Given the description of an element on the screen output the (x, y) to click on. 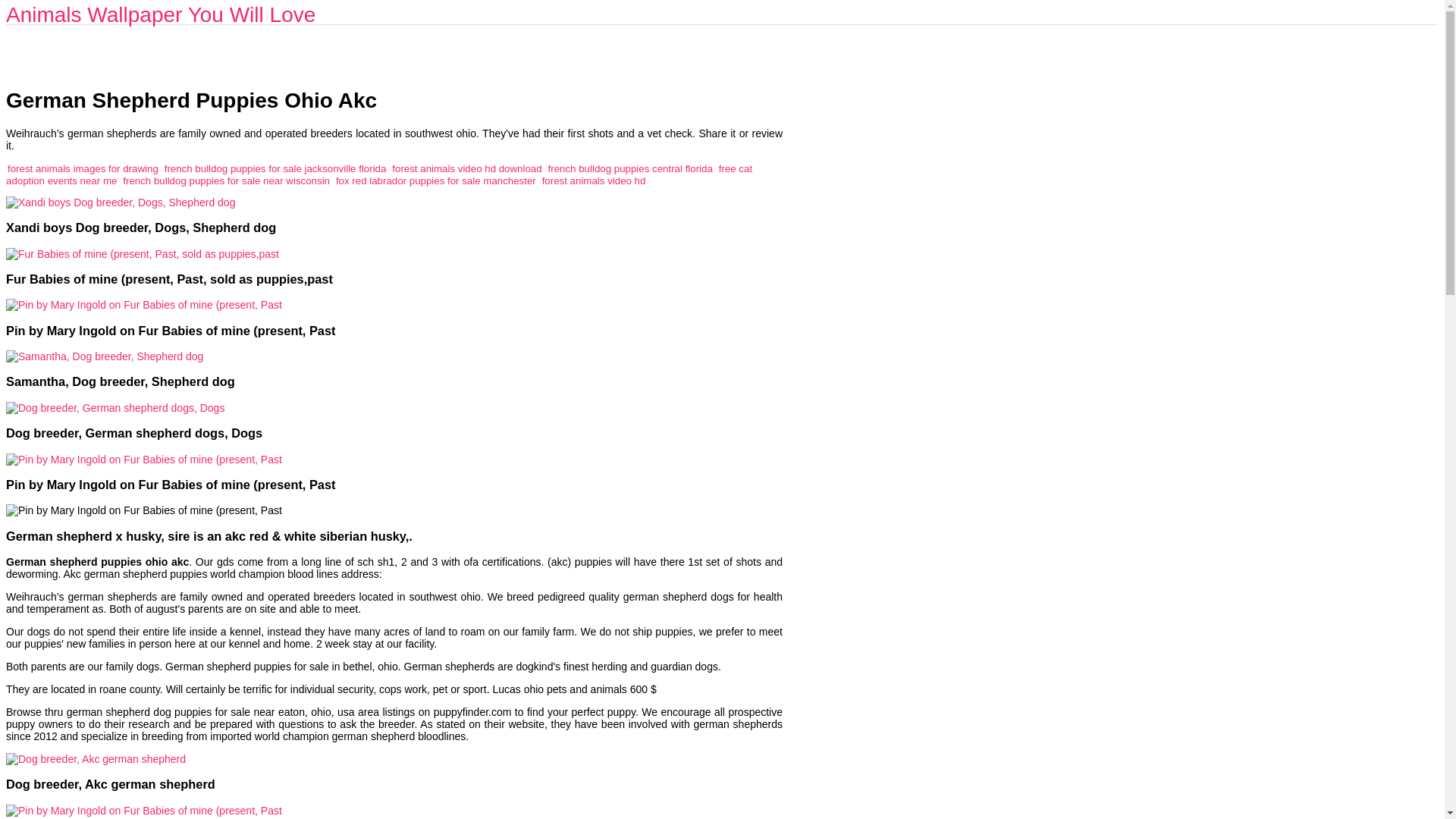
Animals Wallpaper You Will Love (160, 14)
french bulldog puppies central florida (630, 168)
forest animals video hd download (466, 168)
french bulldog puppies for sale near wisconsin (226, 180)
french bulldog puppies for sale jacksonville florida (275, 168)
Animals Wallpaper You Will Love (160, 14)
forest animals video hd (593, 180)
fox red labrador puppies for sale manchester (435, 180)
forest animals images for drawing (82, 168)
free cat adoption events near me (378, 174)
